Given the description of an element on the screen output the (x, y) to click on. 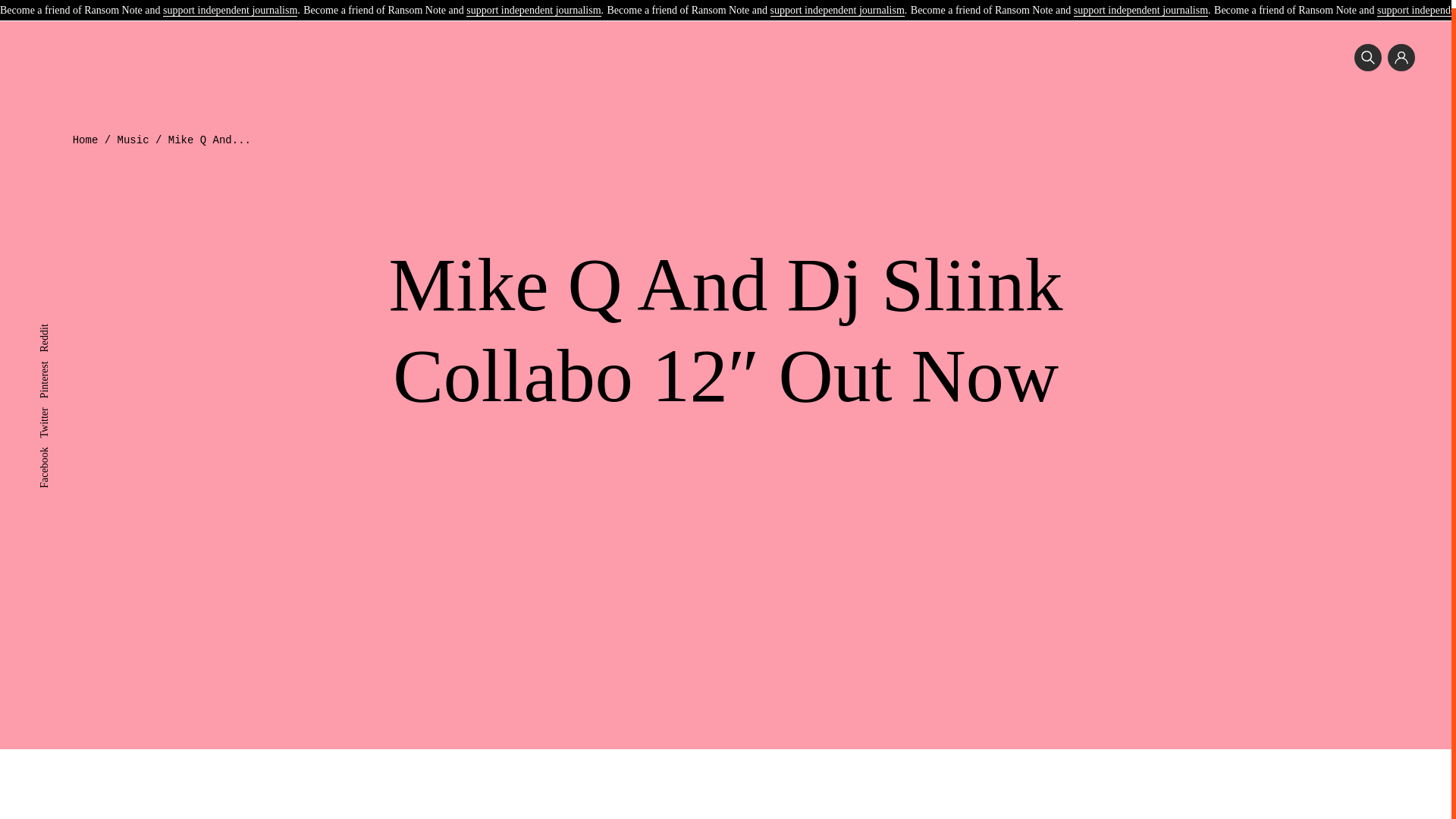
Twitter (53, 404)
Reddit (52, 321)
Facebook (59, 444)
support independent journalism (1141, 4)
support independent journalism (532, 4)
support independent journalism (230, 4)
Home (85, 140)
Music (133, 140)
support independent journalism (837, 4)
Pinterest (57, 358)
